Given the description of an element on the screen output the (x, y) to click on. 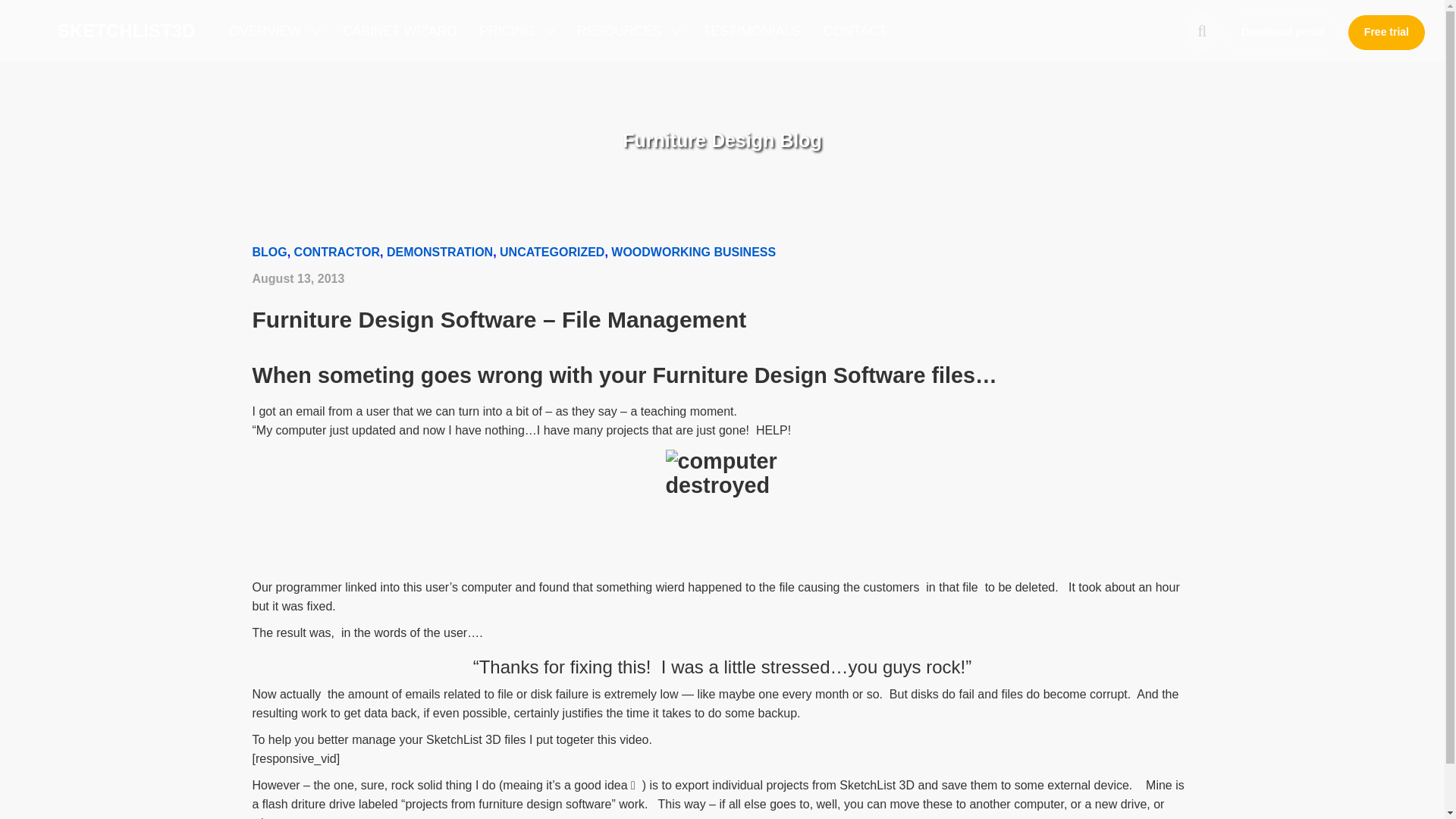
CONTRACTOR (337, 251)
TESTIMONIALS (751, 30)
OVERVIEW (273, 30)
UNCATEGORIZED (551, 251)
PRICING (515, 30)
DEMONSTRATION (440, 251)
Free trial (1386, 32)
Download portal (1282, 32)
BLOG (268, 251)
RESOURCES (627, 30)
CONTACT (855, 30)
SKETCHLIST3D (125, 22)
CABINET WIZARD (399, 30)
